Given the description of an element on the screen output the (x, y) to click on. 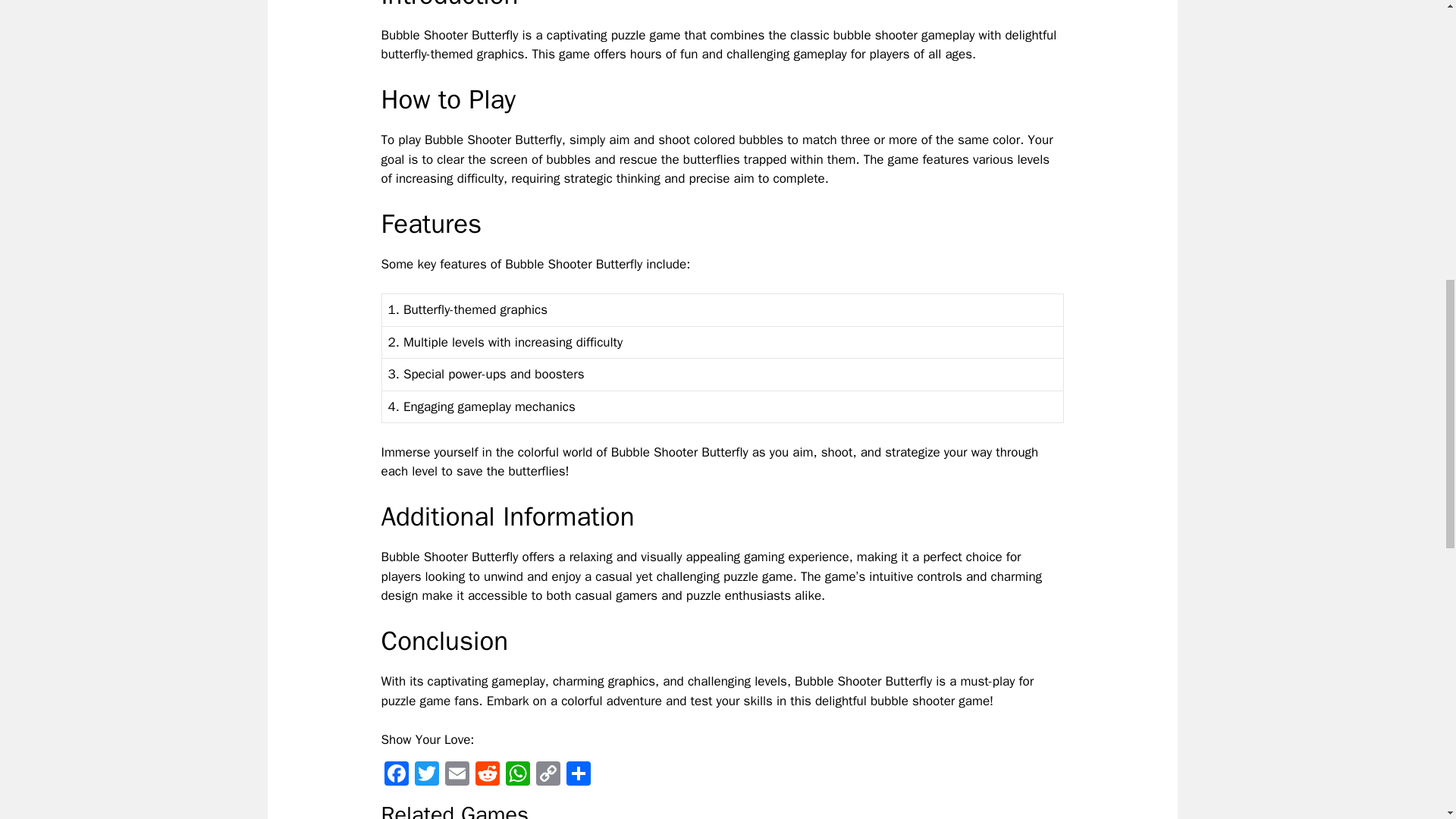
Facebook (395, 775)
WhatsApp (517, 775)
Twitter (425, 775)
Email (456, 775)
Reddit (486, 775)
Email (456, 775)
Share (577, 775)
Facebook (395, 775)
Copy Link (547, 775)
WhatsApp (517, 775)
Twitter (425, 775)
Copy Link (547, 775)
Reddit (486, 775)
